Given the description of an element on the screen output the (x, y) to click on. 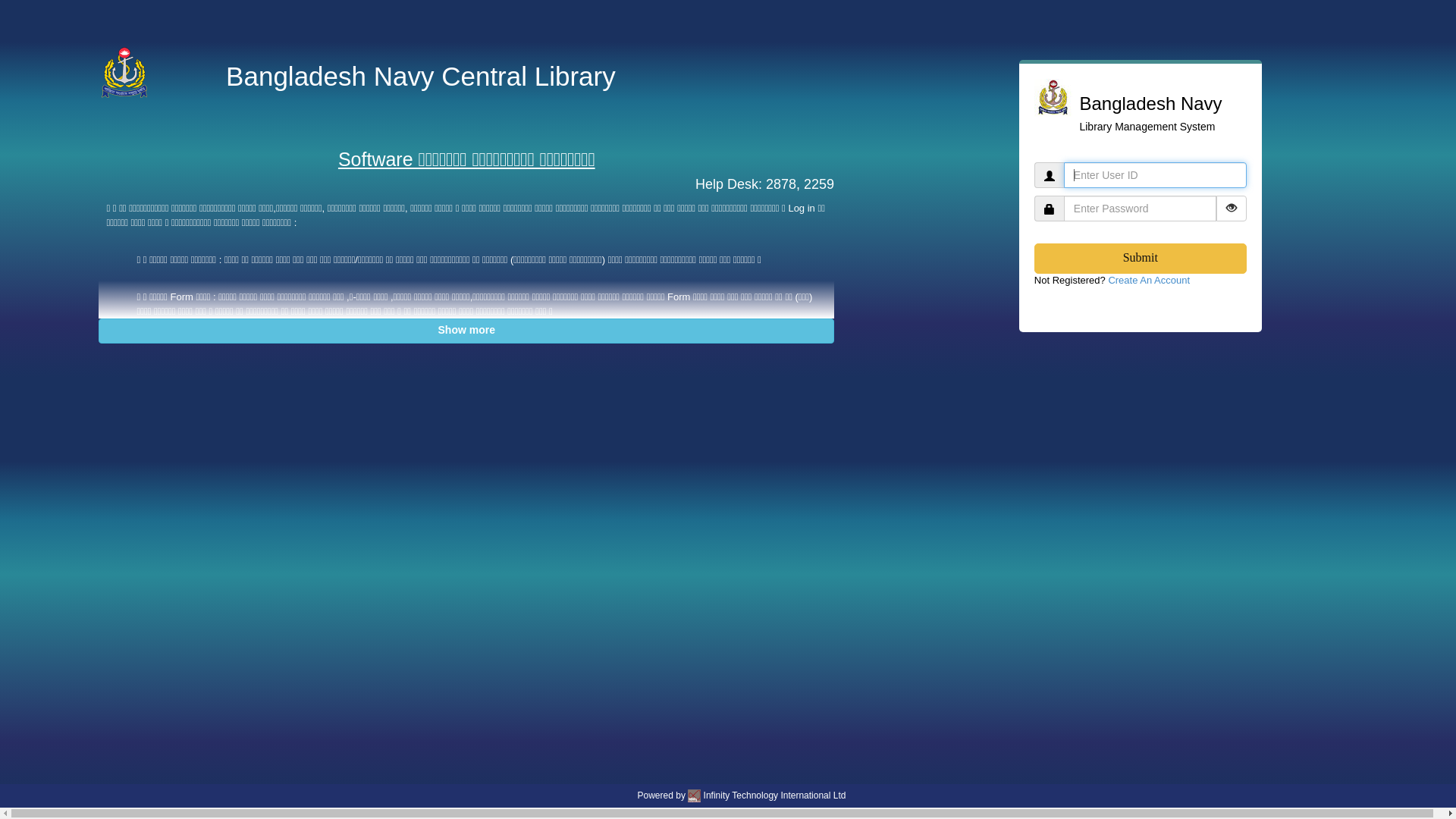
Create An Account Element type: text (1148, 279)
Submit Element type: text (1140, 258)
Show more Element type: text (466, 330)
